Given the description of an element on the screen output the (x, y) to click on. 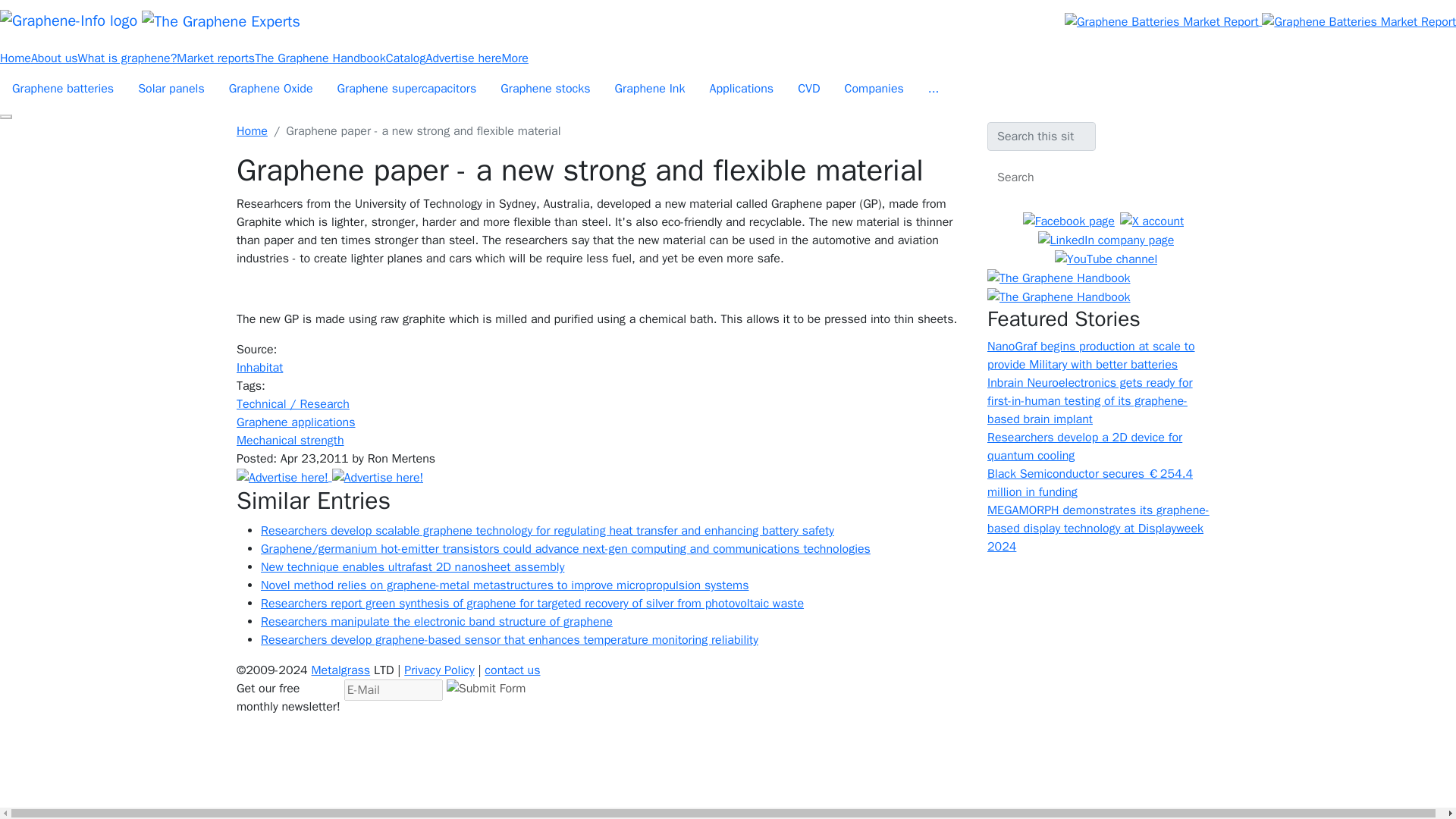
Graphene supercapacitors (406, 88)
Graphene Ink (649, 88)
Graphene applications (295, 421)
Graphene Oxide (270, 88)
Catalog (405, 58)
Home (160, 20)
About us (54, 58)
Home (251, 130)
